Given the description of an element on the screen output the (x, y) to click on. 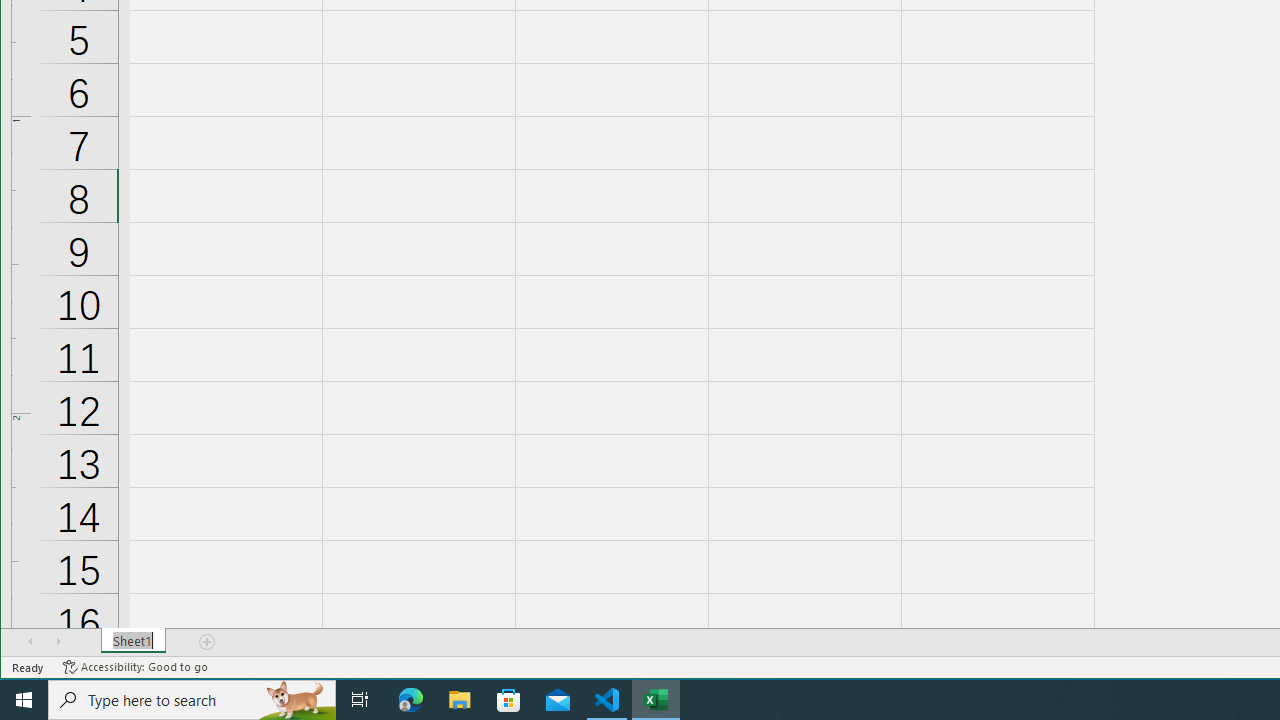
File Explorer (460, 699)
